Given the description of an element on the screen output the (x, y) to click on. 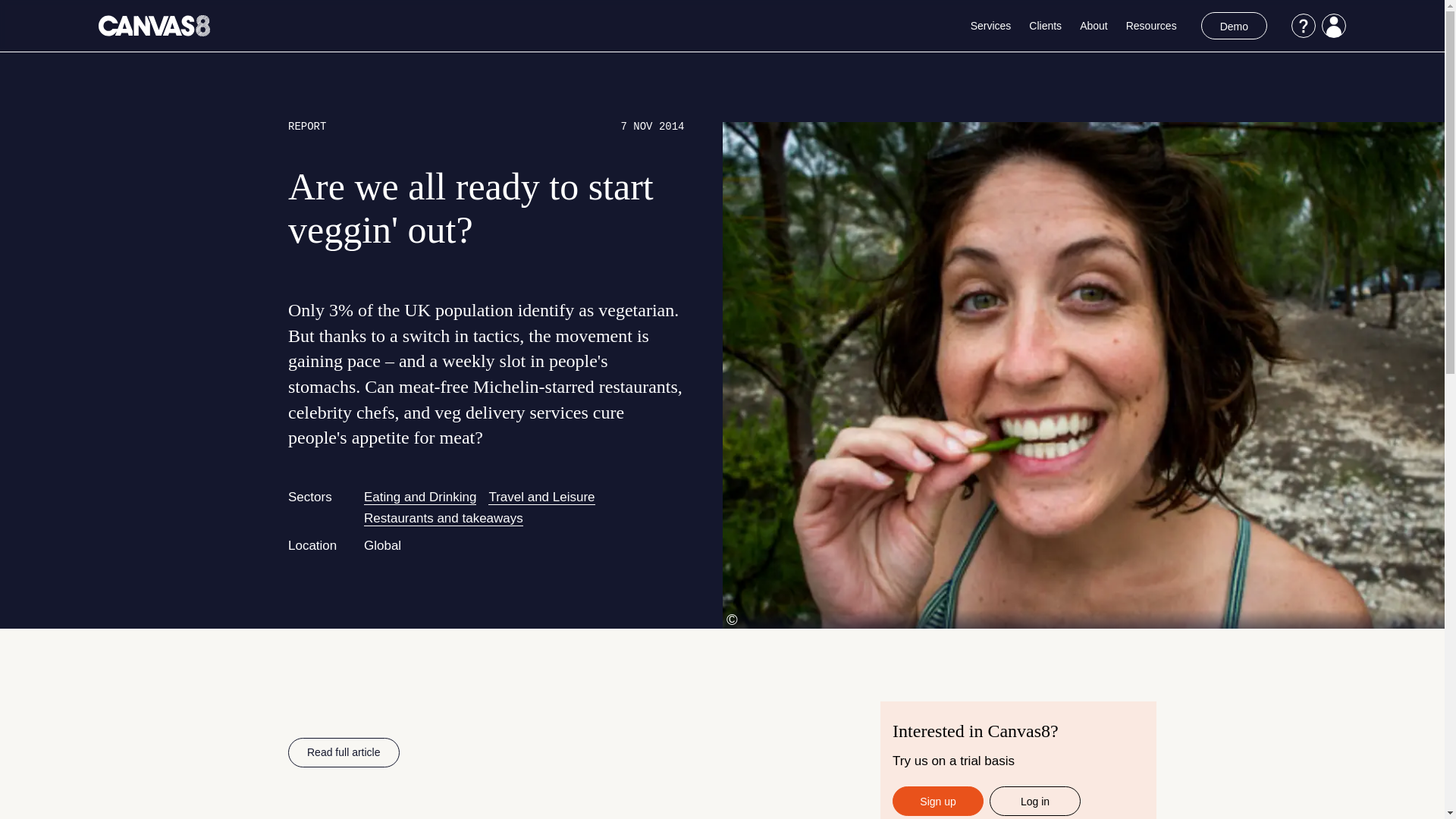
Eating and Drinking (420, 497)
Read full article (343, 752)
Sign up (938, 800)
Resources (1150, 26)
About (1094, 26)
Demo (1233, 25)
Travel and Leisure (540, 497)
Log in (1035, 800)
Services (991, 26)
Clients (1045, 26)
Restaurants and takeaways (443, 518)
